Given the description of an element on the screen output the (x, y) to click on. 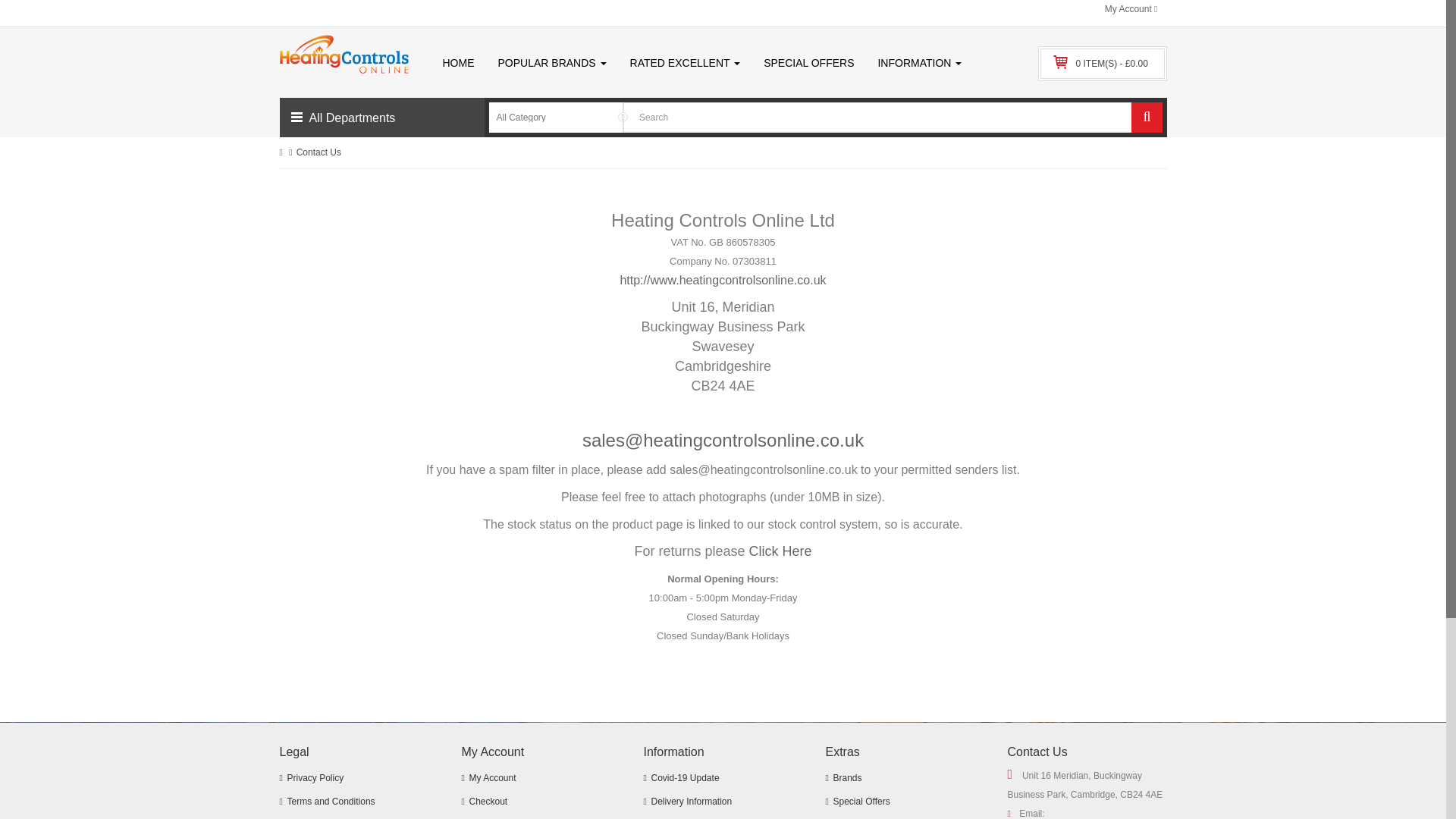
INFORMATION (919, 62)
Contact Us (540, 802)
Covid-19 Update (722, 778)
My Account  (1130, 9)
HOME (457, 62)
SPECIAL OFFERS (808, 62)
POPULAR BRANDS (551, 62)
RATED EXCELLENT (685, 62)
About Us (540, 816)
Heating Controls Online (343, 54)
Upcoming Price Increases (722, 816)
Brands (904, 778)
Newsletter (904, 816)
Special Offers (904, 802)
Delivery Information (722, 802)
